Given the description of an element on the screen output the (x, y) to click on. 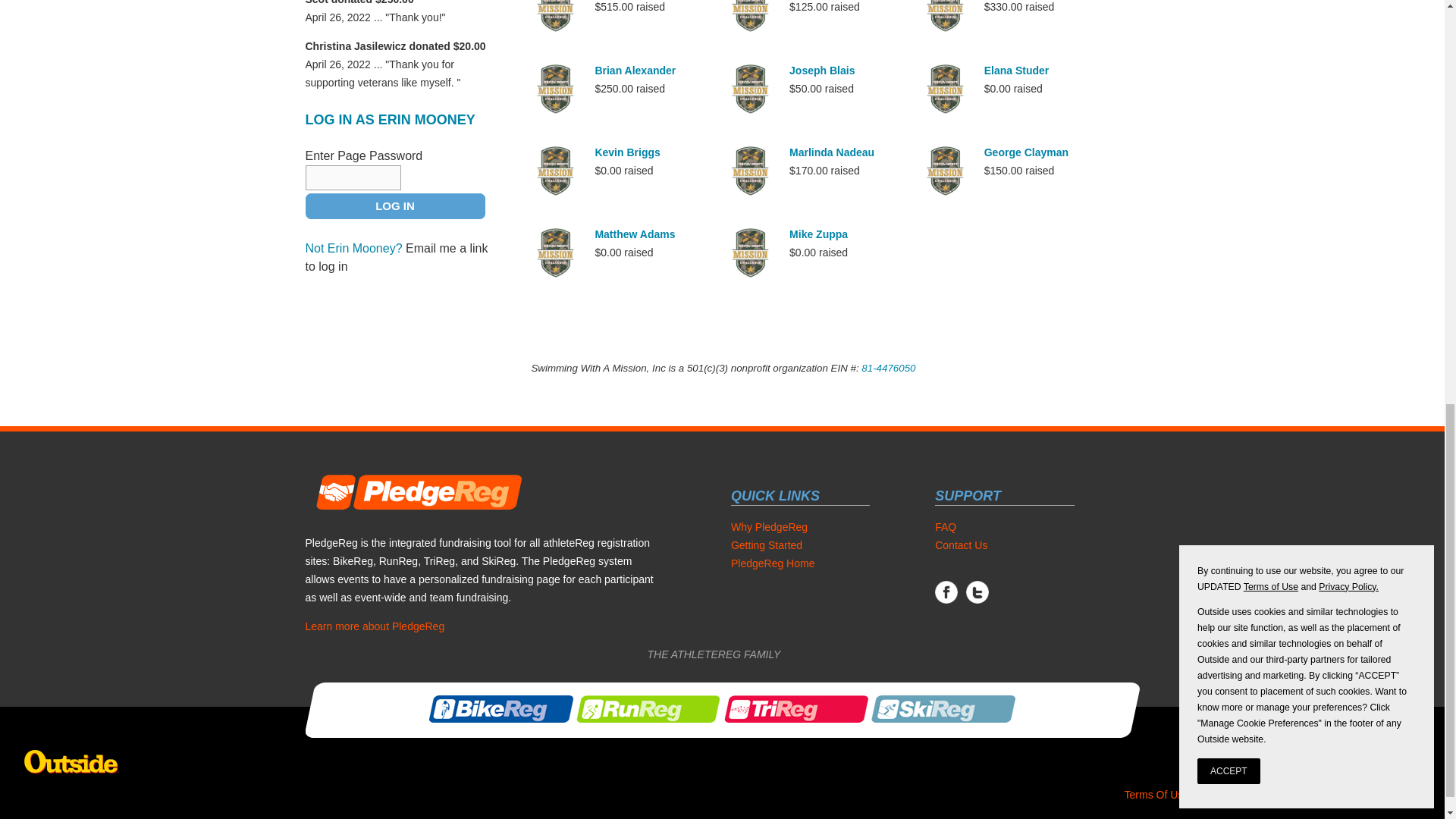
Email me a link to log in (395, 256)
Brian Alexander (634, 70)
Elana Studer (1016, 70)
Log In (394, 206)
Joseph Blais (821, 70)
Not Erin Mooney? (352, 247)
